Given the description of an element on the screen output the (x, y) to click on. 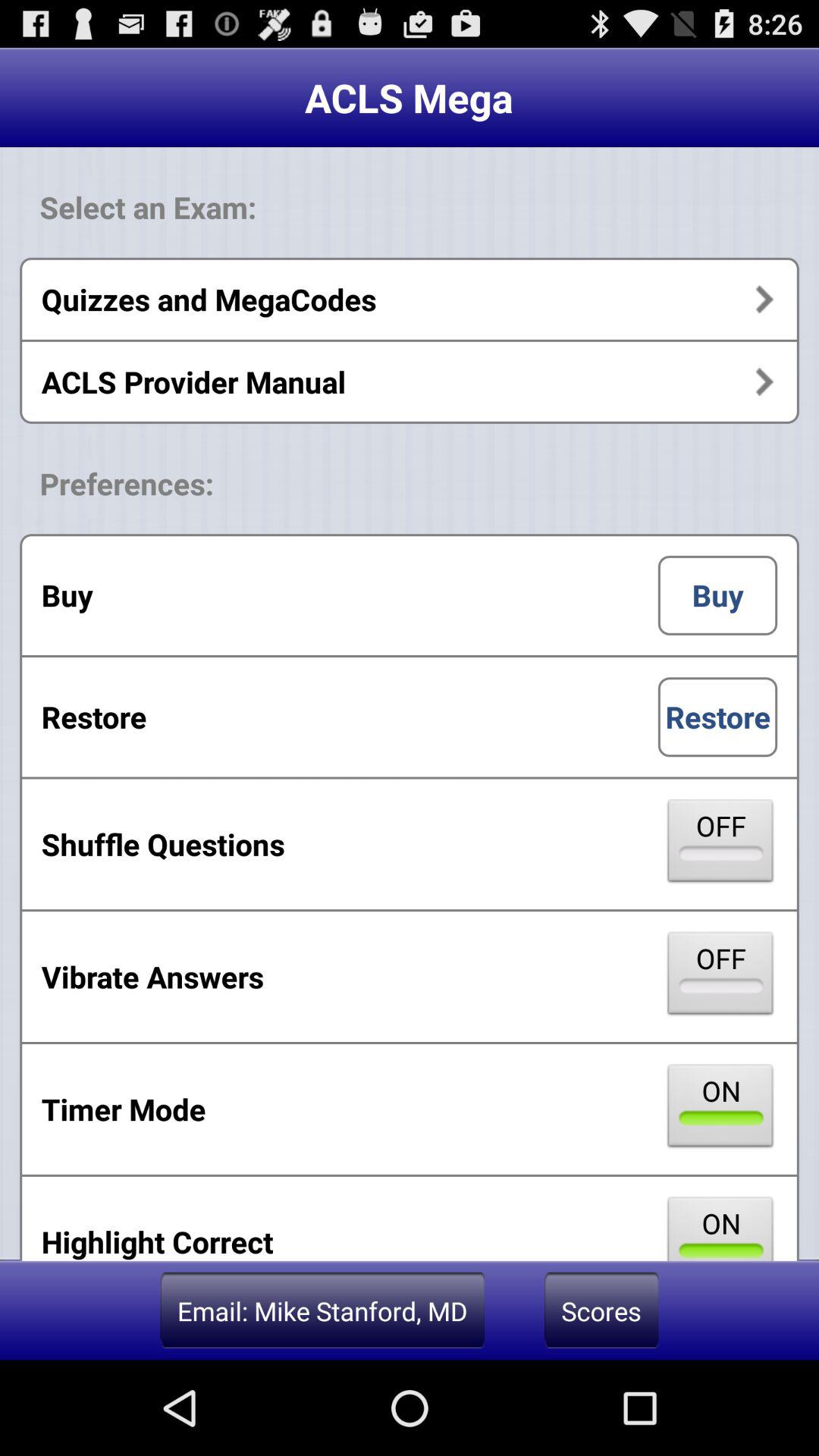
tap the item above the preferences: icon (409, 381)
